Given the description of an element on the screen output the (x, y) to click on. 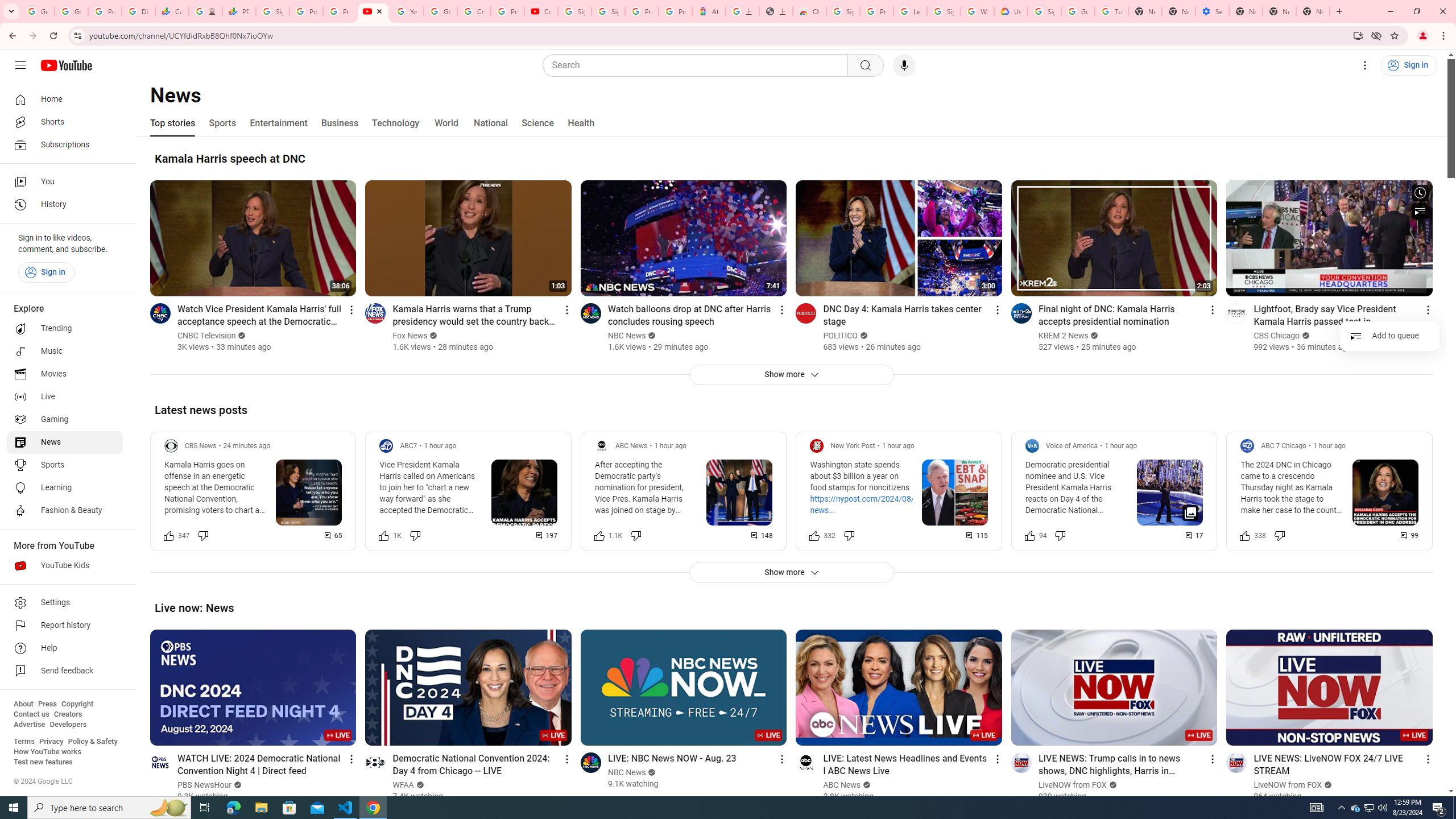
Like this post along with 1,140 other people (598, 534)
Shorts (64, 121)
Gaming (64, 419)
LIVE: NBC News NOW - Aug. 23 by NBC News 665,260 views (671, 757)
Advertise (29, 724)
Dislike this post (1278, 534)
Sign in - Google Accounts (608, 11)
Learning (64, 487)
New Tab (1313, 11)
News (64, 441)
